Given the description of an element on the screen output the (x, y) to click on. 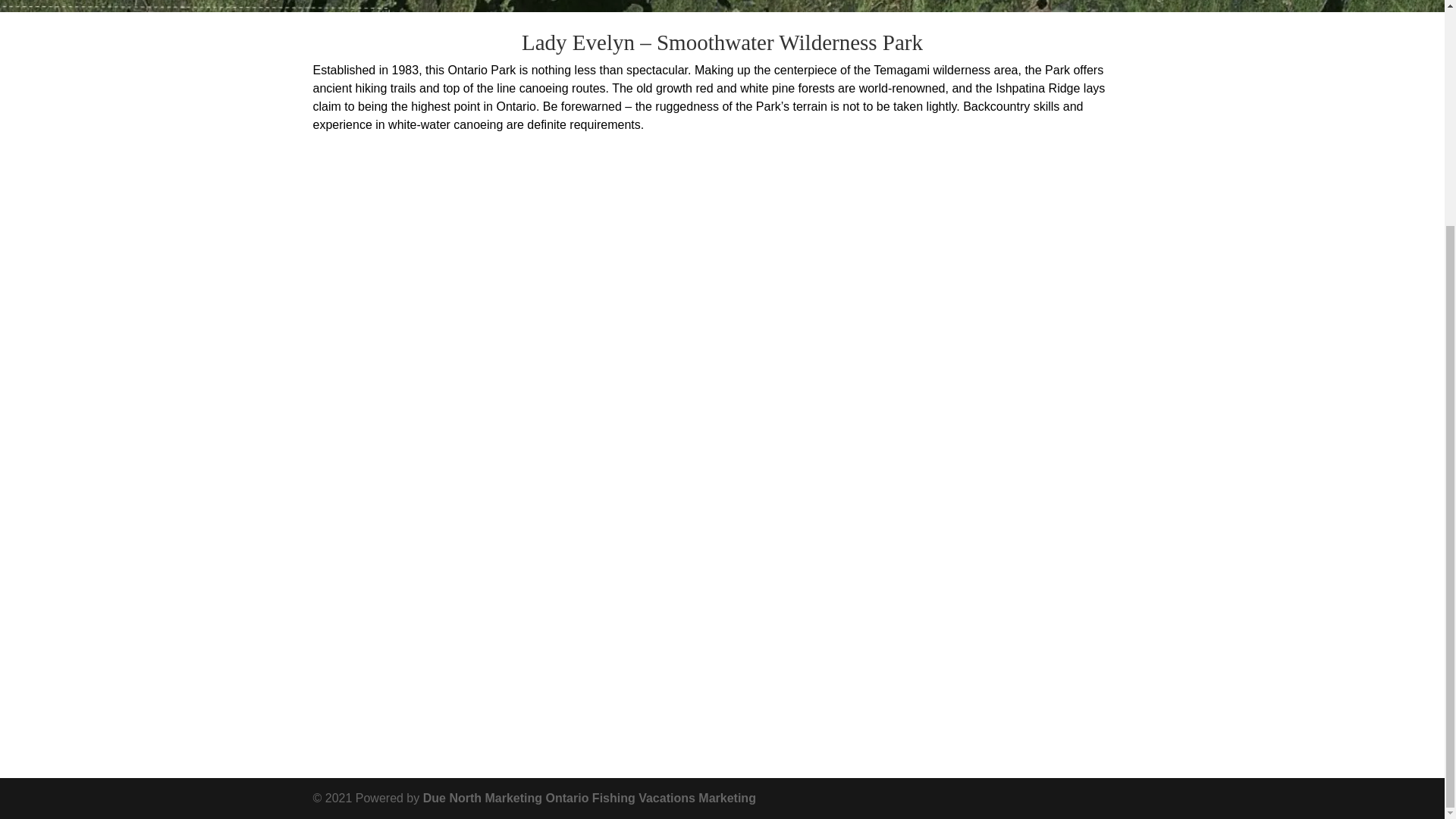
Due North Marketing (482, 797)
Ontario Fishing Vacations Marketing (650, 797)
